Given the description of an element on the screen output the (x, y) to click on. 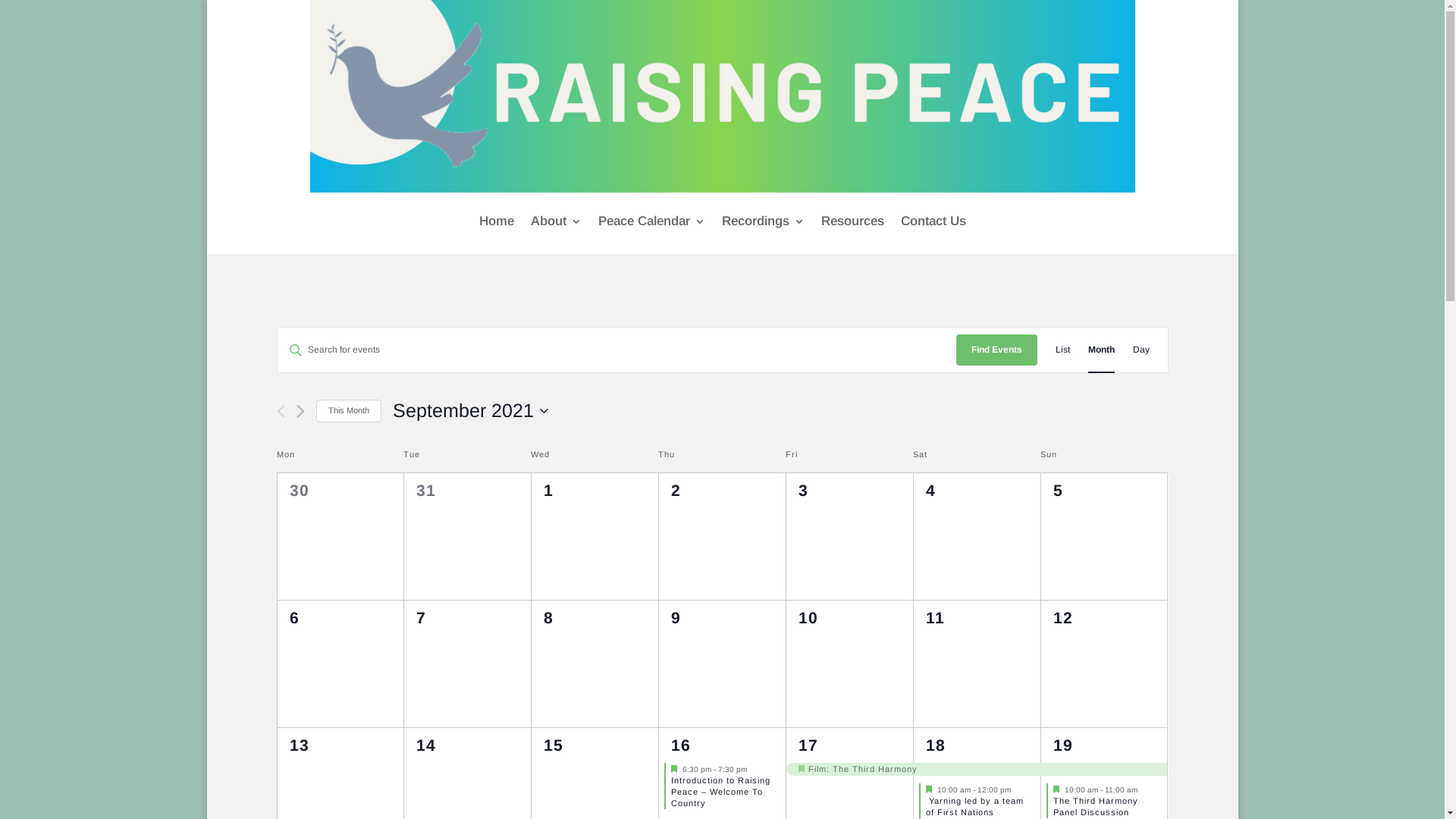
Peace Calendar Element type: text (650, 221)
Find Events Element type: text (995, 349)
List Element type: text (1062, 349)
18 Element type: text (935, 744)
Recordings Element type: text (762, 221)
16 Element type: text (680, 744)
17 Element type: text (808, 744)
Home Element type: text (496, 221)
Featured Element type: hover (801, 768)
Next month Element type: hover (299, 411)
About Element type: text (555, 221)
Resources Element type: text (851, 221)
19 Element type: text (1063, 744)
The Third Harmony Panel Discussion Element type: text (1095, 806)
Previous month Element type: hover (280, 411)
Month Element type: text (1100, 349)
September 2021 Element type: text (470, 410)
Day Element type: text (1140, 349)
This Month Element type: text (347, 410)
Contact Us Element type: text (933, 221)
